Given the description of an element on the screen output the (x, y) to click on. 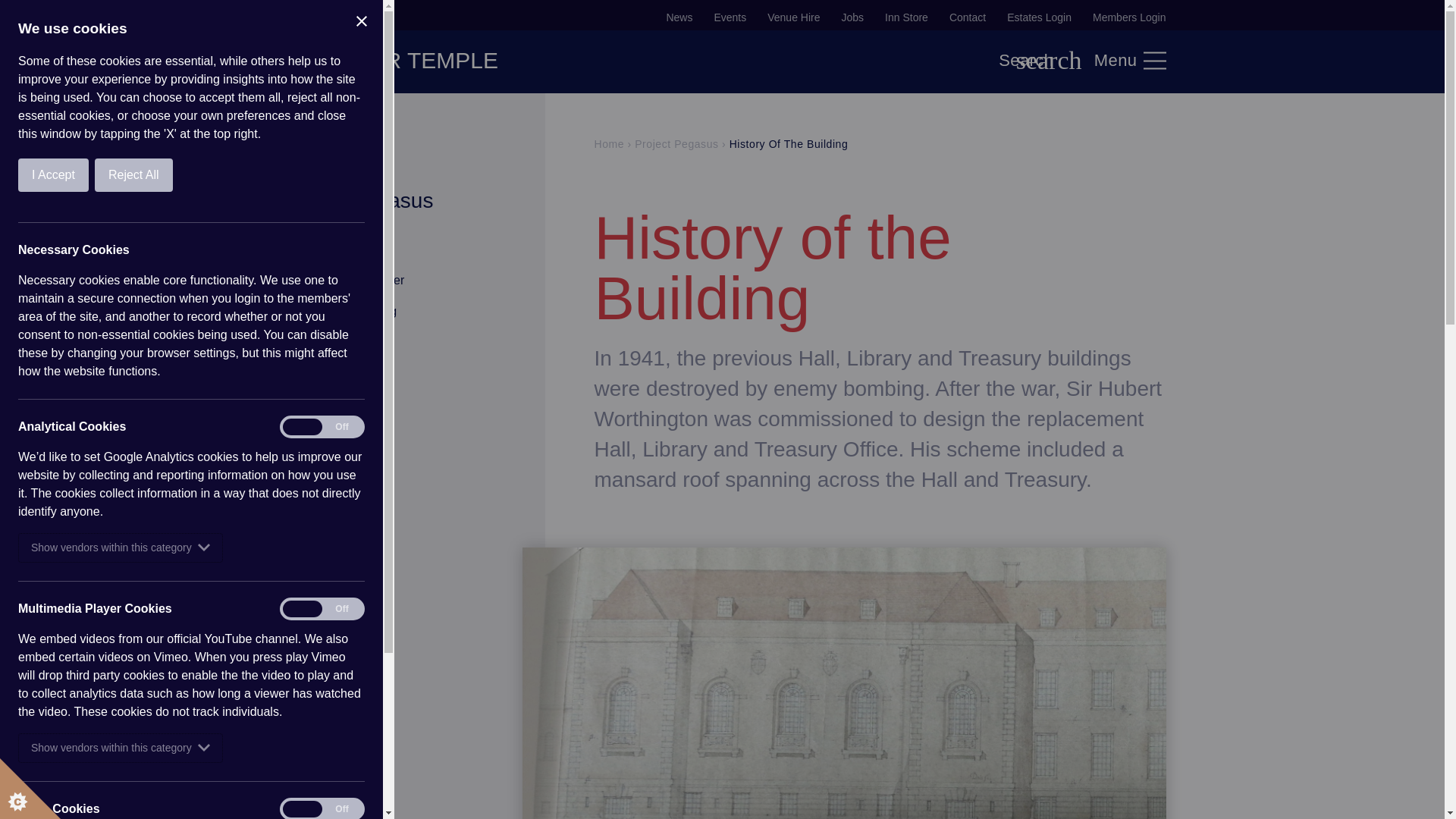
Project Overview (325, 248)
Inn Store (906, 17)
THE INNER TEMPLE (389, 59)
Events (729, 17)
Estates Login (1039, 17)
Contractor's Newsletter (341, 279)
Home (609, 143)
Show vendors within this category (12, 547)
Jobs (852, 17)
Contact (967, 17)
Login (722, 483)
See all results (618, 71)
Venue Hire (793, 17)
News (679, 17)
Show vendors within this category (41, 747)
